Given the description of an element on the screen output the (x, y) to click on. 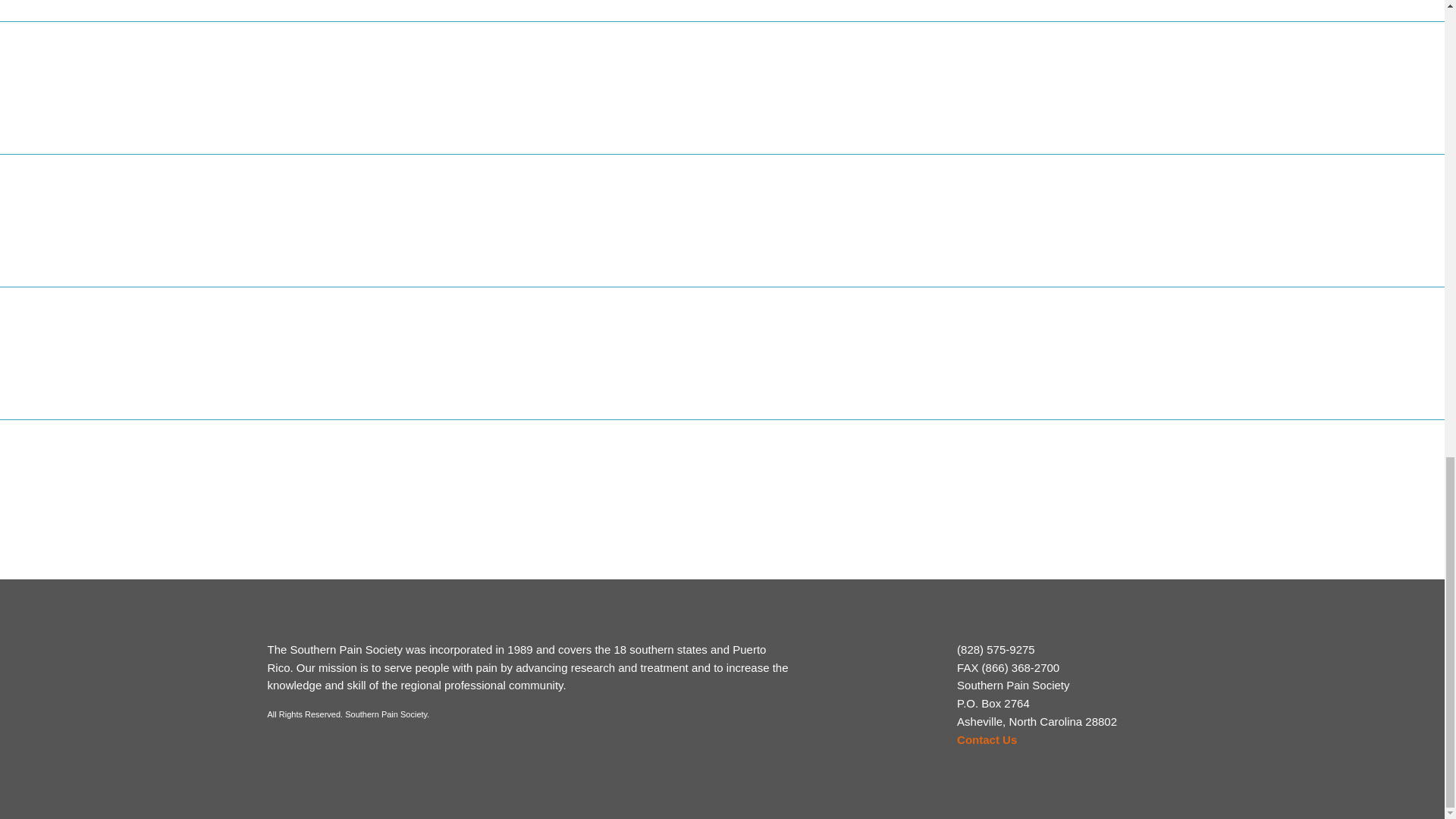
eagle (912, 99)
bostn (151, 97)
lm (531, 229)
cornerlock (531, 96)
leadsq (151, 229)
pp (151, 362)
mainstay (1293, 232)
lighthouse (912, 232)
forte (1293, 99)
